Given the description of an element on the screen output the (x, y) to click on. 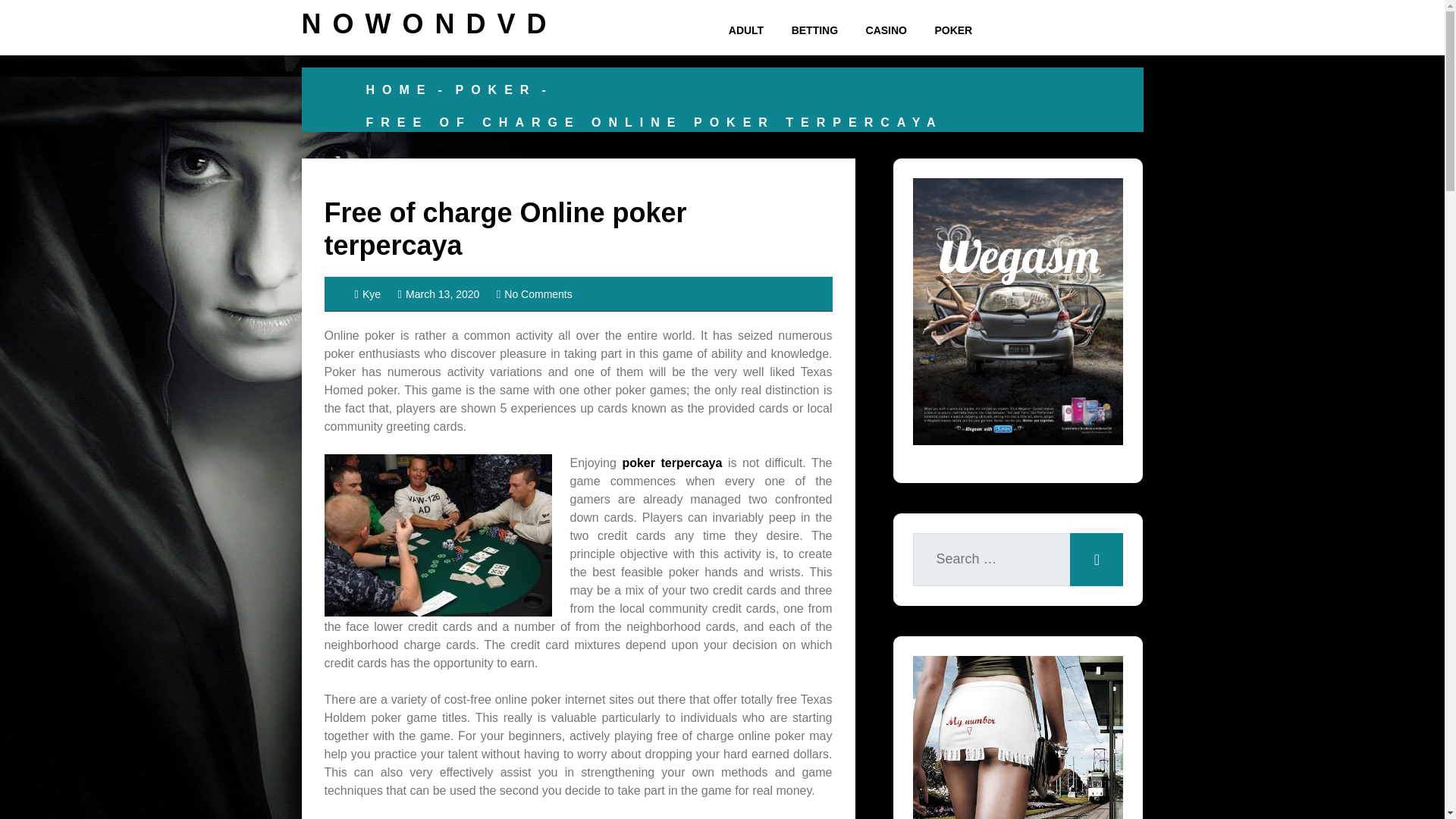
Free of charge Online poker terpercaya (505, 229)
No Comments (534, 294)
ADULT (746, 30)
March 13, 2020 (438, 294)
HOME (398, 90)
NOWONDVD (429, 23)
POKER (494, 90)
Kye (368, 294)
CASINO (885, 30)
POKER (952, 30)
